Given the description of an element on the screen output the (x, y) to click on. 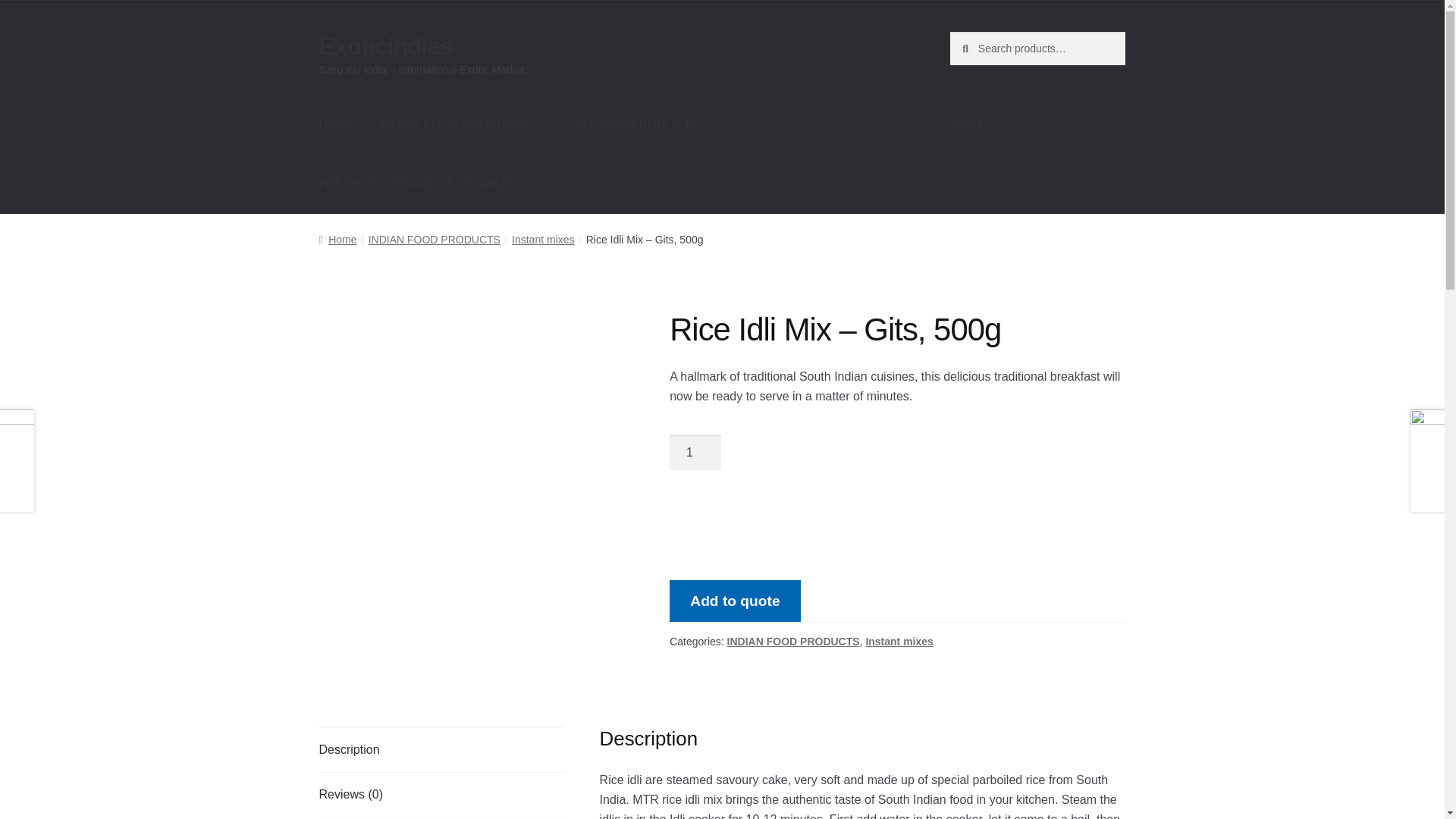
Exoticindias (385, 45)
FRESH FRUITS AND VEGETABLES (419, 183)
1 (694, 452)
INDIAN FOOD PRODUCTS (462, 124)
Qty (694, 452)
Home (335, 124)
View your shopping cart (1037, 124)
AFRICAN PRODUCTS (636, 124)
